Given the description of an element on the screen output the (x, y) to click on. 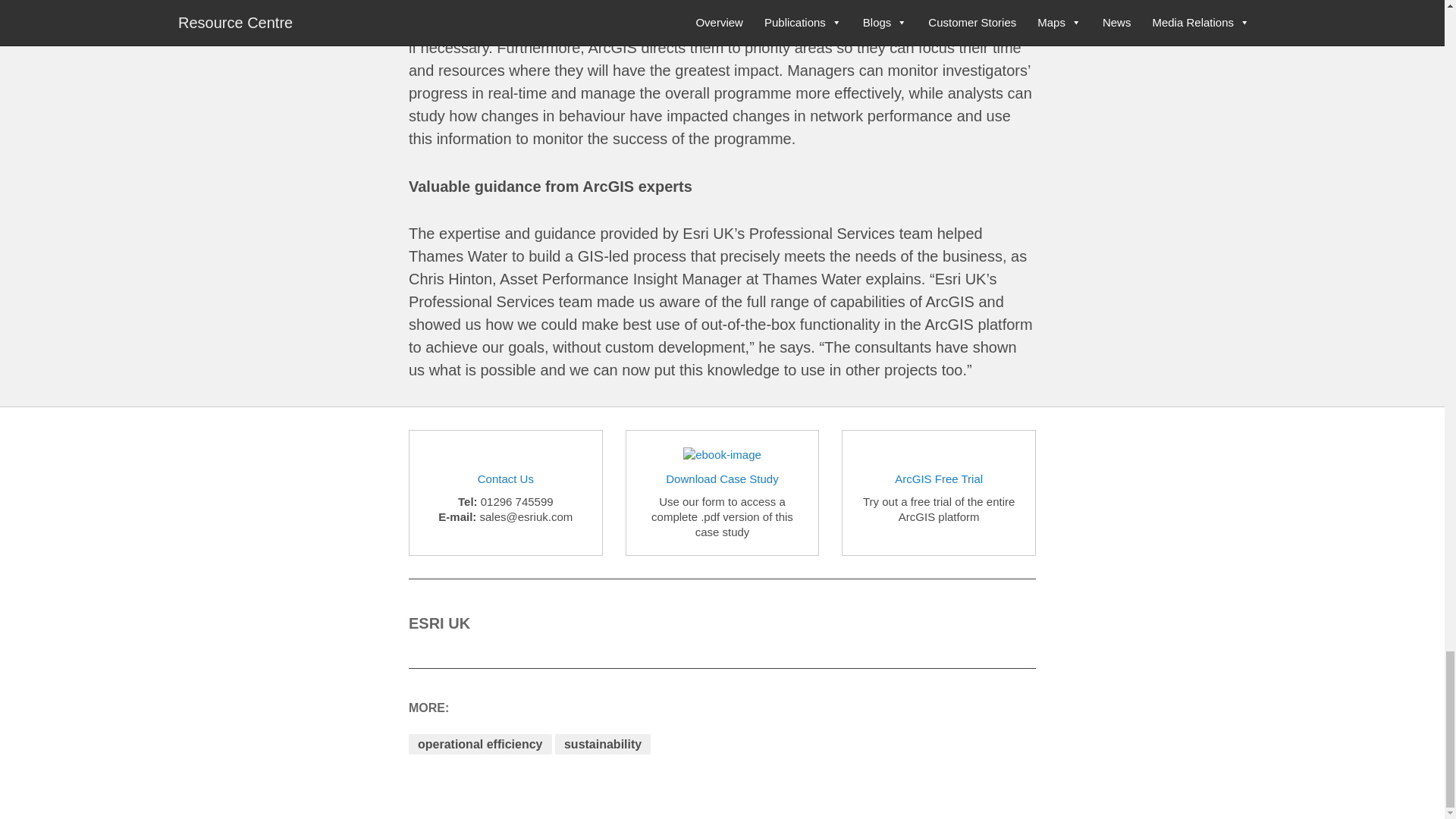
Contact Us (505, 478)
ArcGIS Free Trial (938, 478)
sustainability (602, 743)
Download Case Study (721, 478)
operational efficiency (480, 743)
